Given the description of an element on the screen output the (x, y) to click on. 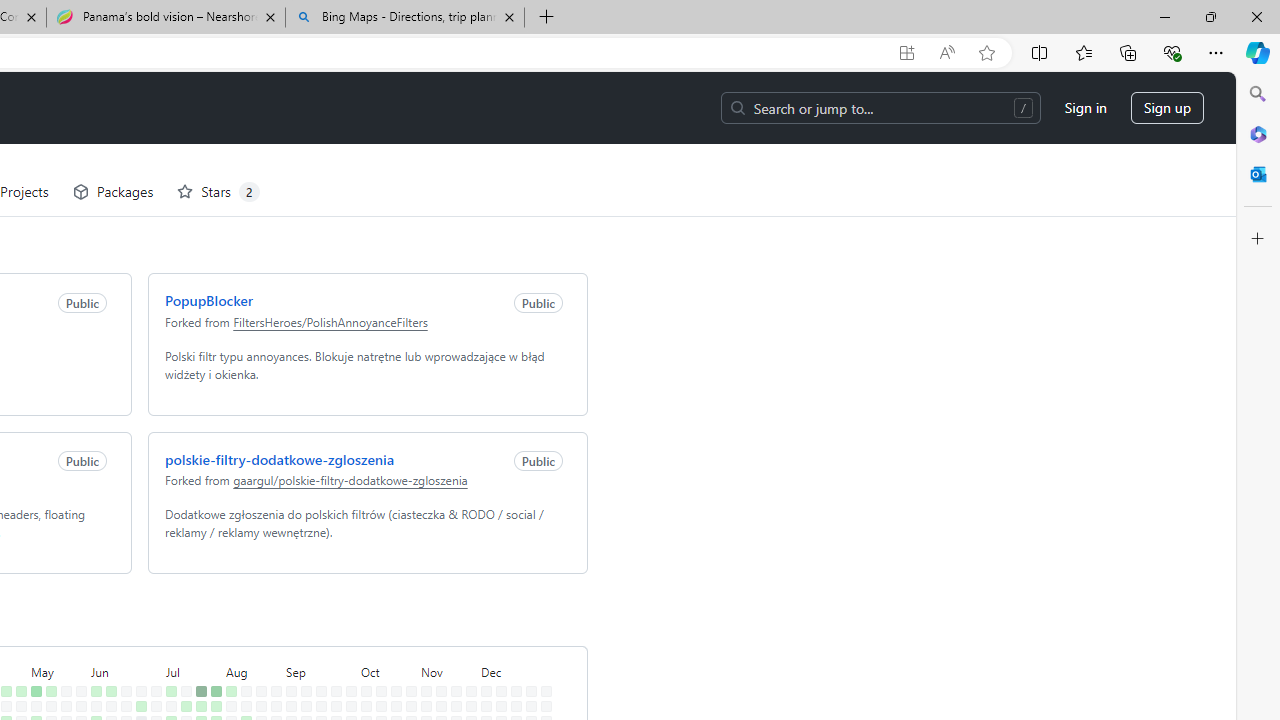
1 contribution on May 16th. (47, 678)
No contributions on August 2nd. (212, 694)
1 contribution on May 3rd. (17, 694)
10 contributions on July 21st. (197, 619)
No contributions on June 30th. (152, 619)
No contributions on August 25th. (272, 619)
1 contribution on July 24th. (197, 664)
No contributions on August 18th. (257, 619)
No contributions on July 1st. (152, 634)
No contributions on May 23rd. (62, 678)
No contributions on May 28th. (77, 649)
November (445, 598)
No contributions on October 2nd. (347, 664)
